Given the description of an element on the screen output the (x, y) to click on. 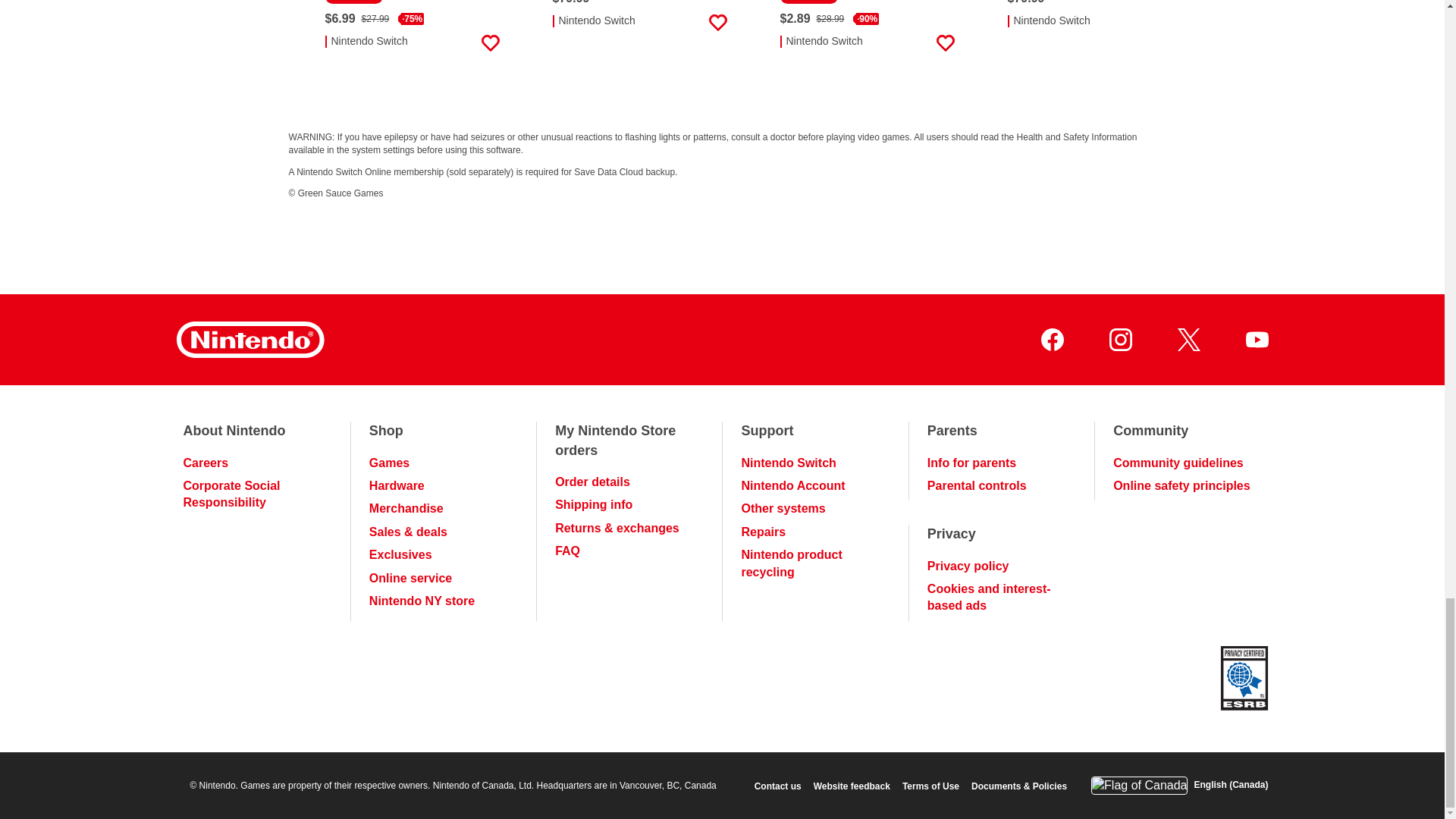
Nintendo Homepage (249, 339)
Nintendo on Twitter (1187, 339)
Nintendo on Facebook (1051, 339)
Add to Wish List (716, 22)
Nintendo on YouTube (1256, 339)
Add to Wish List (489, 43)
Nintendo on Instagram (1119, 339)
Add to Wish List (944, 43)
Add to Wish List (1172, 22)
